Given the description of an element on the screen output the (x, y) to click on. 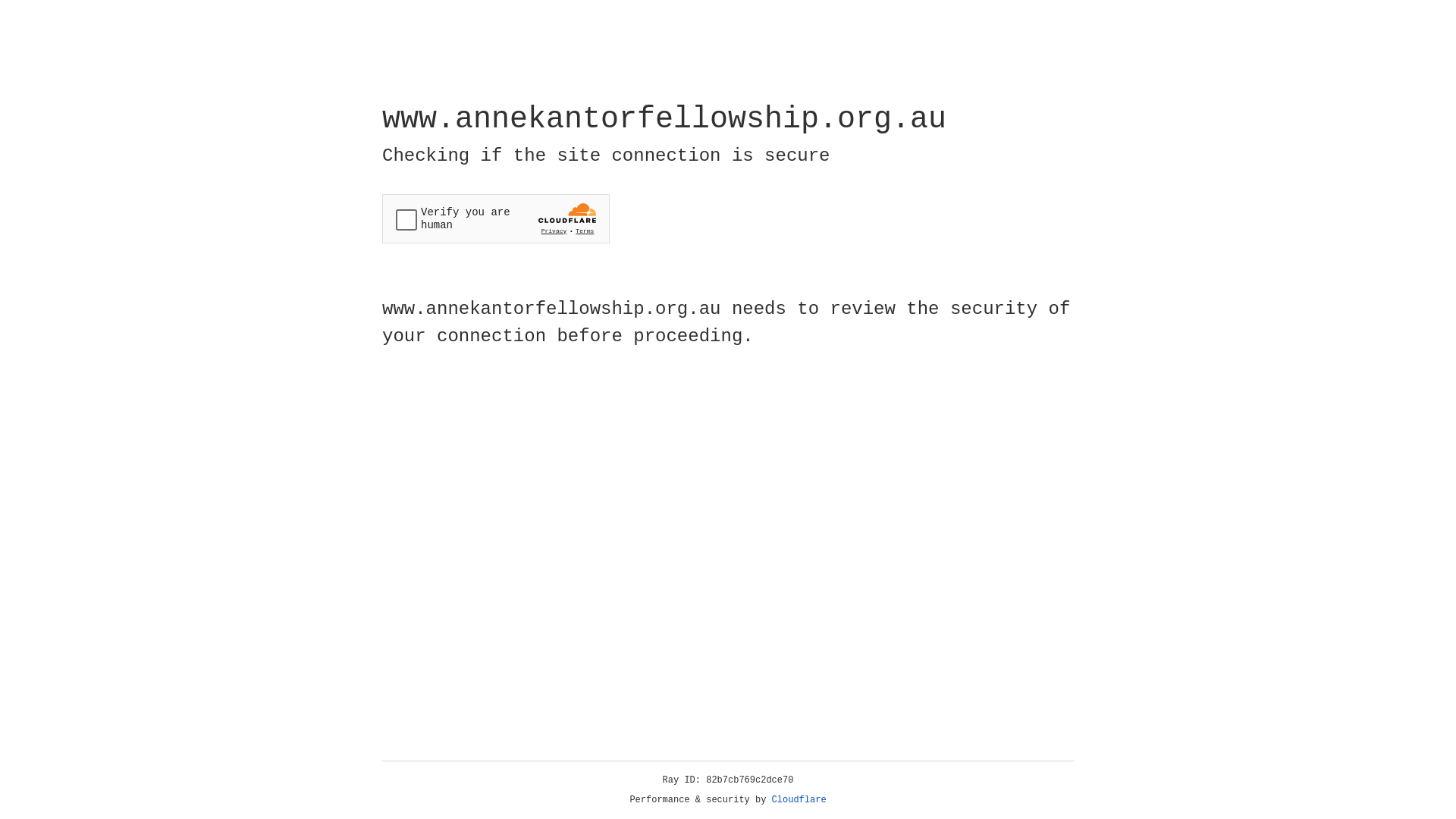
Cloudflare Element type: text (798, 799)
Widget containing a Cloudflare security challenge Element type: hover (495, 218)
